Given the description of an element on the screen output the (x, y) to click on. 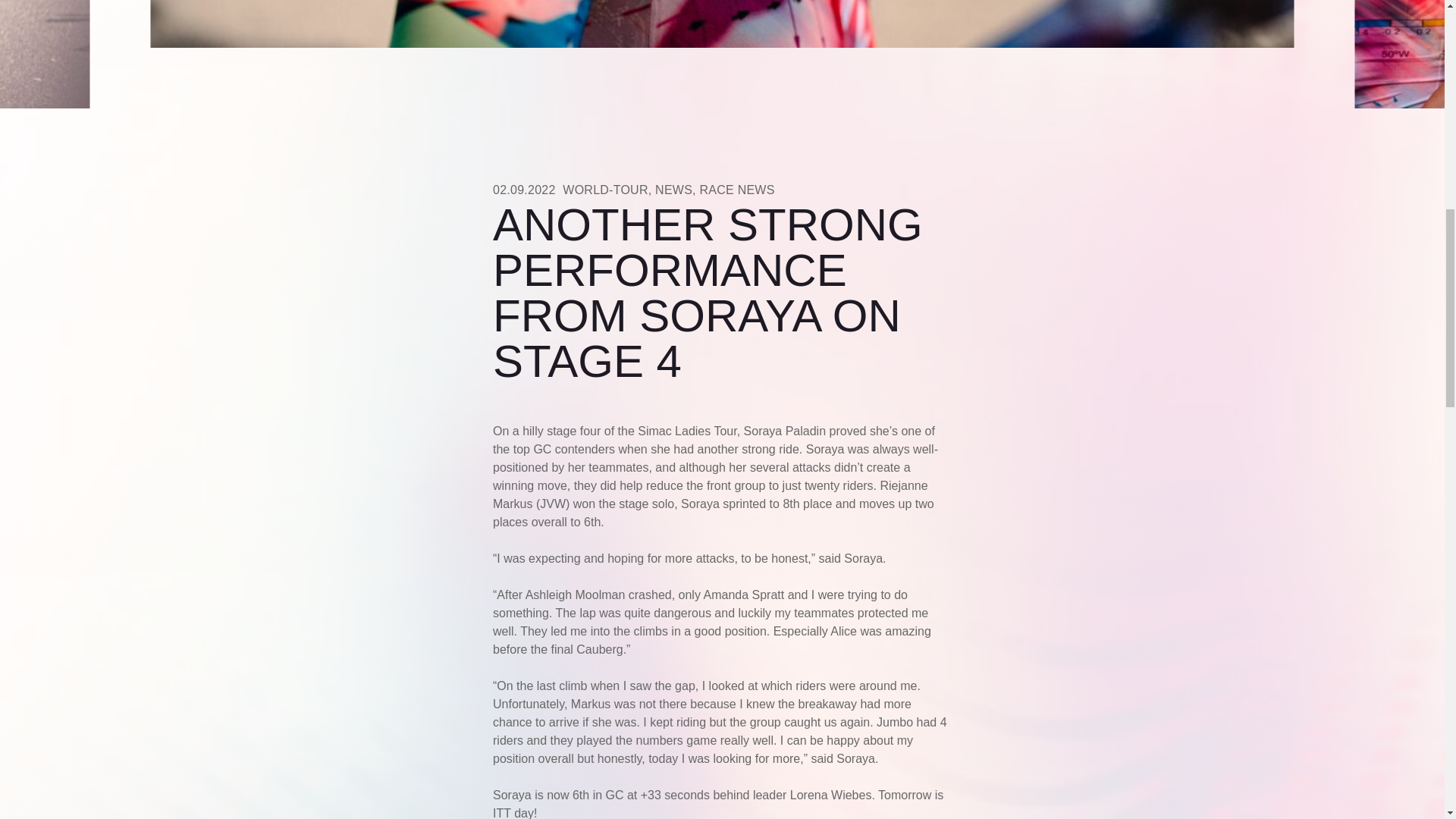
RACE NEWS (736, 189)
WORLD-TOUR (604, 189)
NEWS (674, 189)
